Given the description of an element on the screen output the (x, y) to click on. 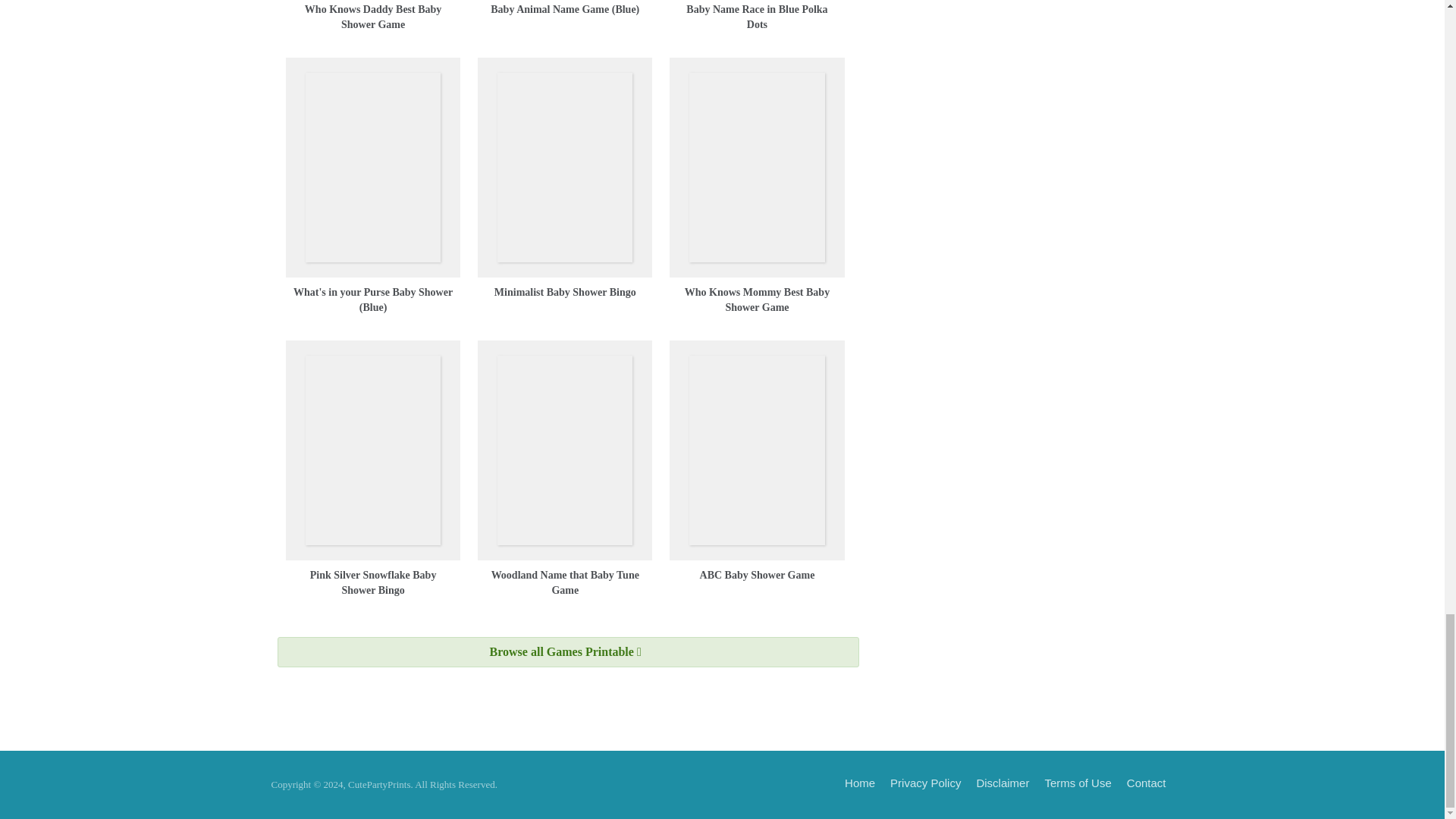
Who Knows Daddy Best Baby Shower Game (373, 17)
Minimalist Baby Shower Bingo (565, 292)
Who Knows Mommy Best Baby Shower Game (756, 299)
Baby Name Race in Blue Polka Dots (756, 17)
